Given the description of an element on the screen output the (x, y) to click on. 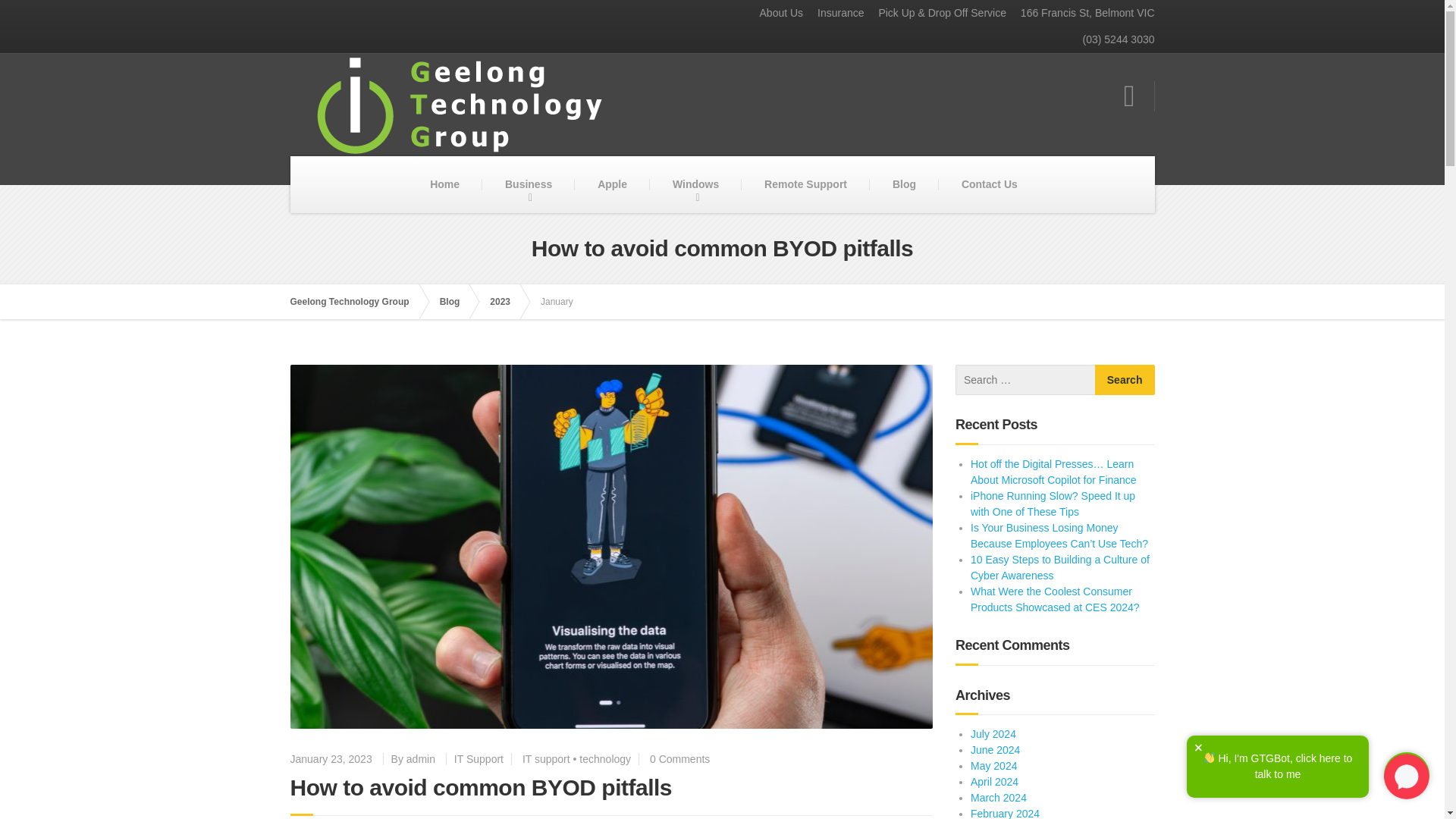
166 Francis St, Belmont VIC (1081, 13)
Apple (612, 184)
Go to Blog. (457, 301)
Contact Us (990, 184)
Home (444, 184)
Go to Geelong Technology Group. (356, 301)
technology (604, 758)
Go to the 2023 archives. (507, 301)
Search (1124, 379)
Insurance (834, 13)
Windows (695, 184)
Talk to GTG (1406, 774)
Remote Support (805, 184)
Close (1199, 747)
